Given the description of an element on the screen output the (x, y) to click on. 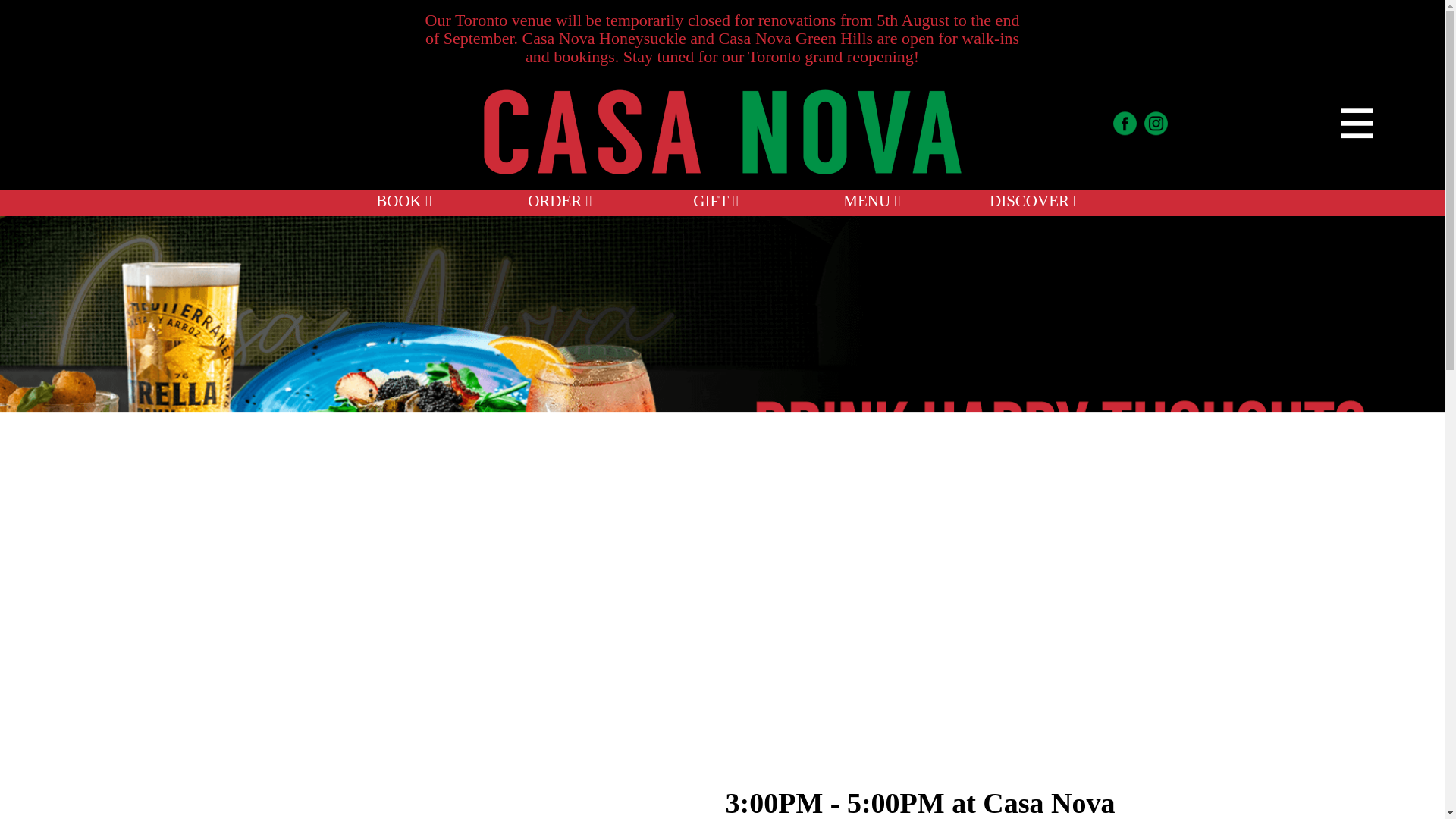
MENU (871, 200)
ORDER (559, 200)
BOOK (402, 200)
GIFT (715, 200)
